Given the description of an element on the screen output the (x, y) to click on. 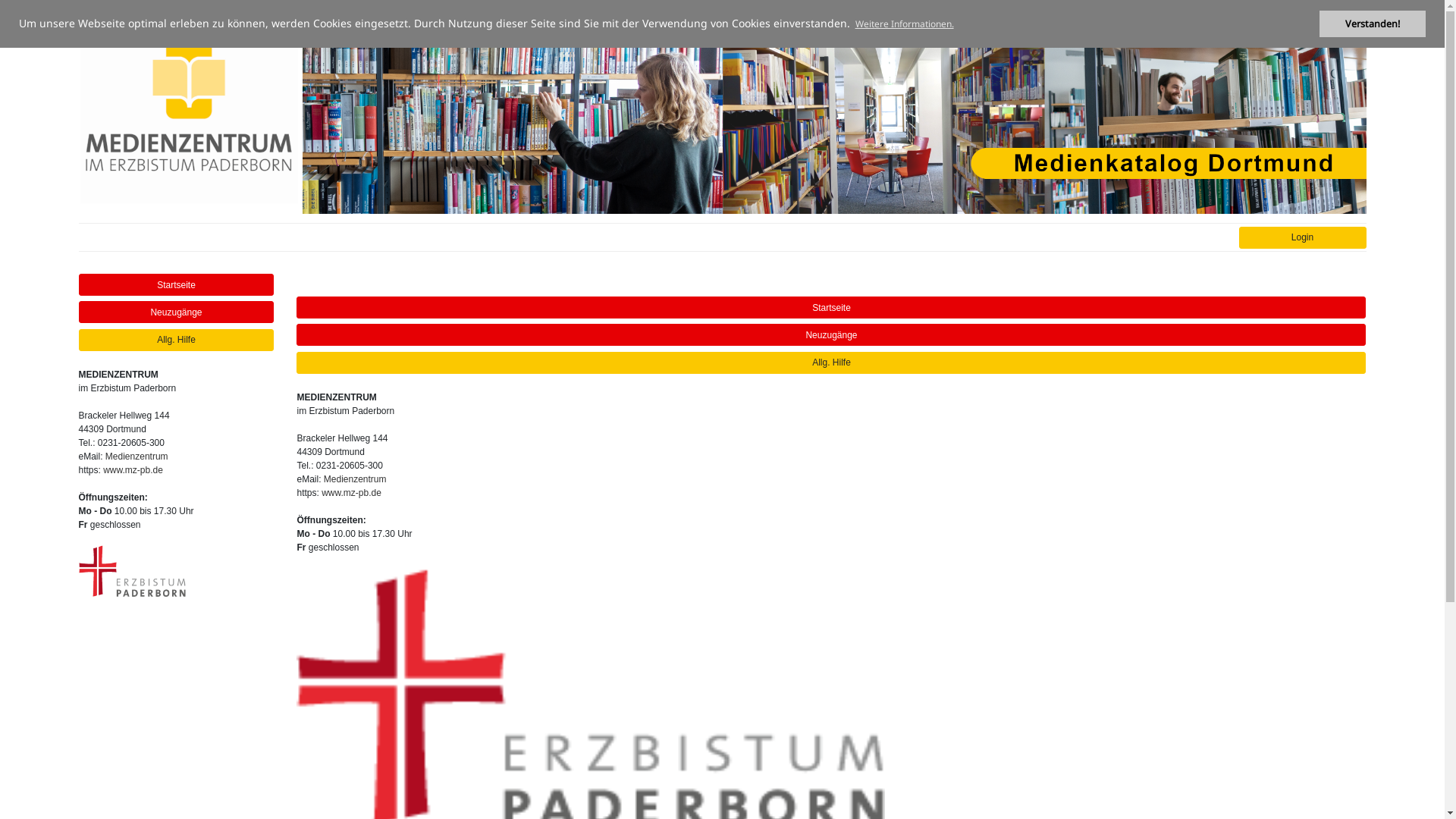
Login Element type: text (1302, 237)
Zur Homepage des Erzbistum Paderborn Element type: hover (590, 695)
www.mz-pb.de Element type: text (133, 469)
Weitere Informationen. Element type: text (904, 24)
Allg. Hilfe Element type: text (830, 362)
Startseite Element type: text (176, 284)
Allgemeine Hilfe zur Nutzung des BIS-C 2000 Web-OPAC Element type: hover (176, 340)
Erzbistum Paderborn Element type: hover (132, 570)
Bannerbild Element type: hover (1043, 111)
www.mz-pb.de Element type: text (351, 492)
Medienzentrum Element type: text (354, 478)
MZ Dortmund - Bibliothek Element type: hover (400, 111)
Verstanden! Element type: text (1372, 23)
Medienzentrum Element type: text (136, 456)
Allgemeine Hilfe zur Nutzung des BIS-C 2000 Web-OPAC Element type: hover (830, 362)
Allg. Hilfe Element type: text (176, 340)
Startseite Element type: text (830, 307)
Zur Homepage des Erzbistum Paderborn Element type: hover (132, 569)
